Given the description of an element on the screen output the (x, y) to click on. 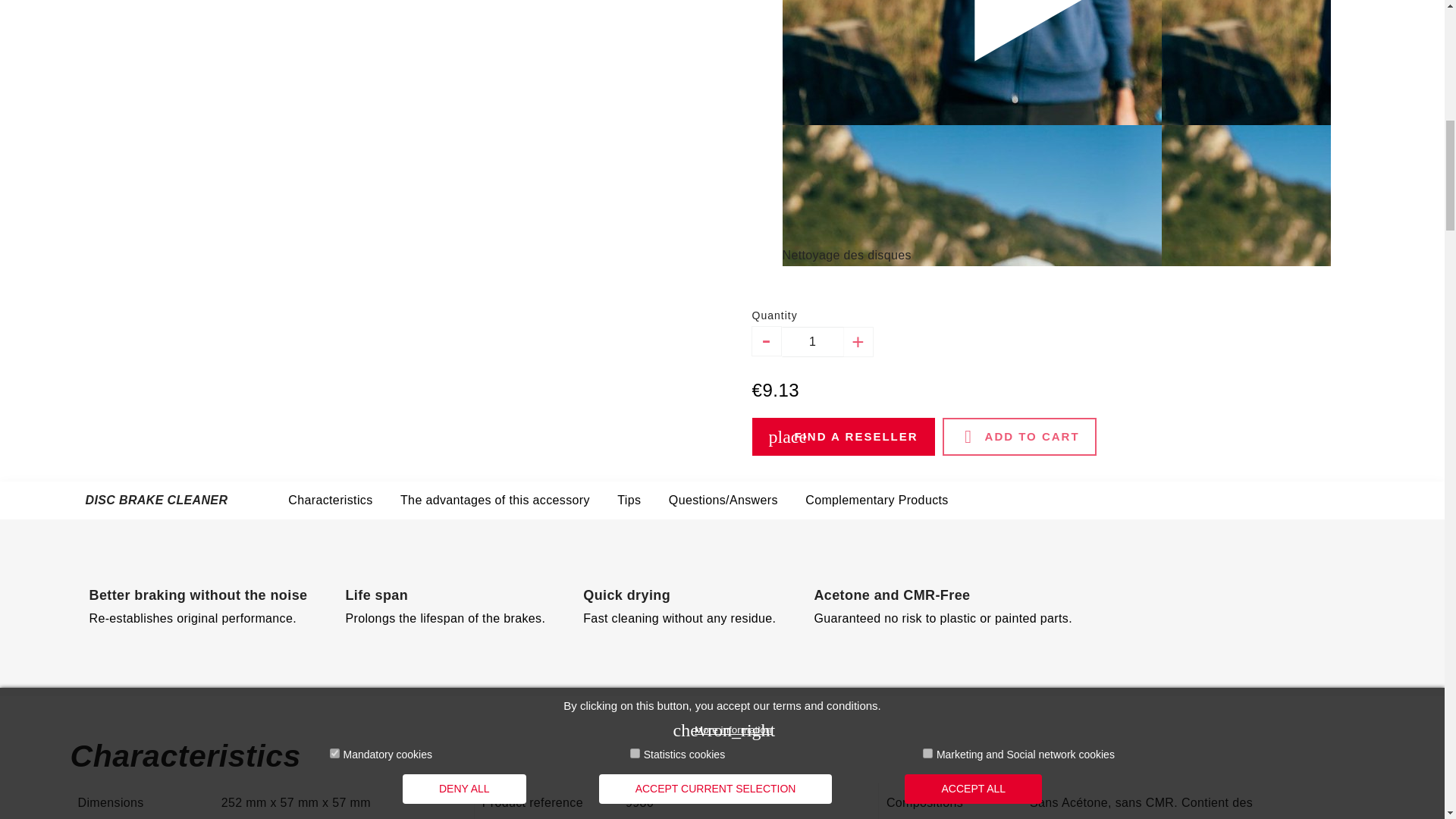
Characteristics (330, 500)
The advantages of this accessory (494, 500)
1 (812, 341)
Complementary Products (876, 500)
